Given the description of an element on the screen output the (x, y) to click on. 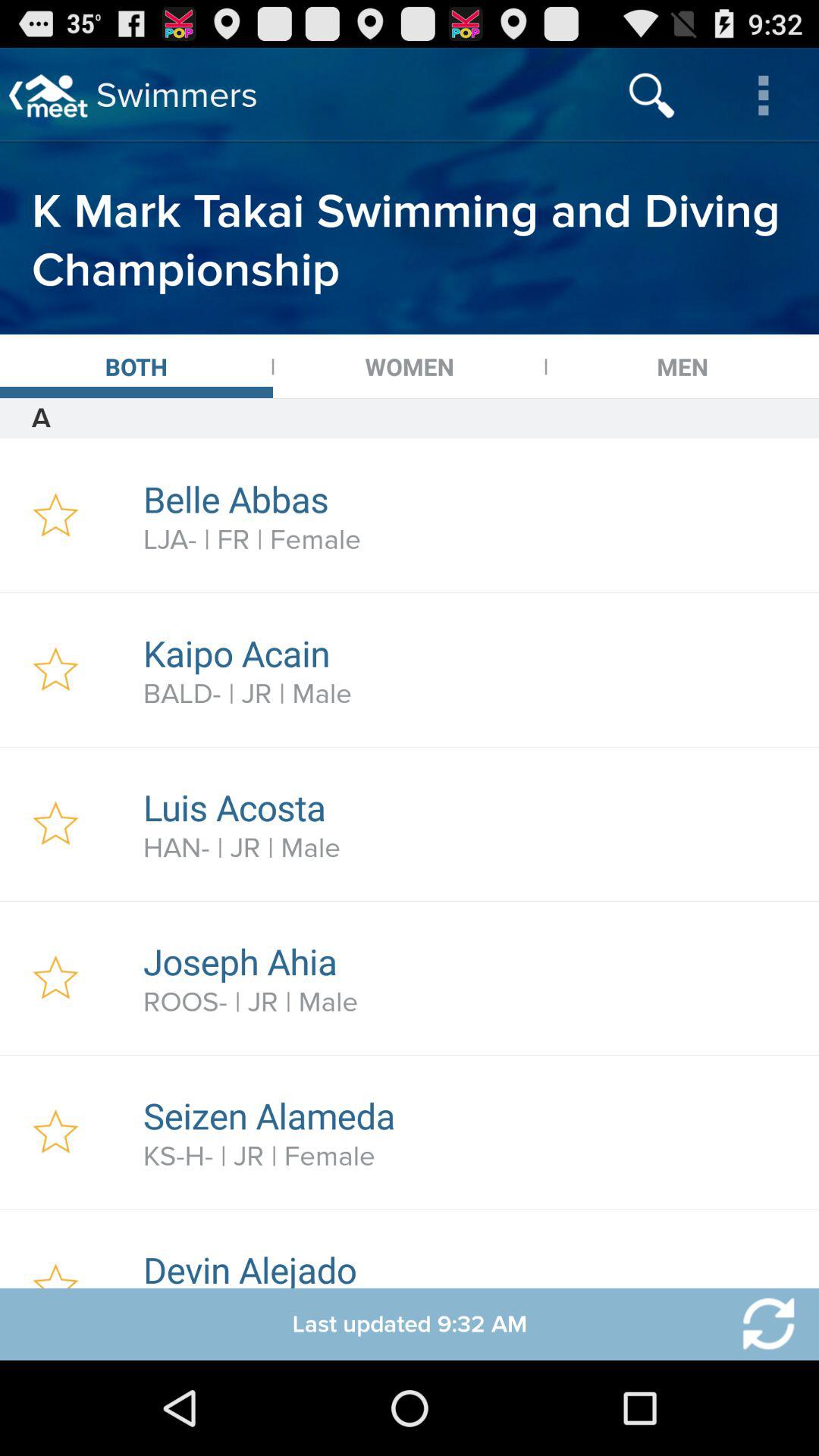
click a favorite (55, 823)
